Given the description of an element on the screen output the (x, y) to click on. 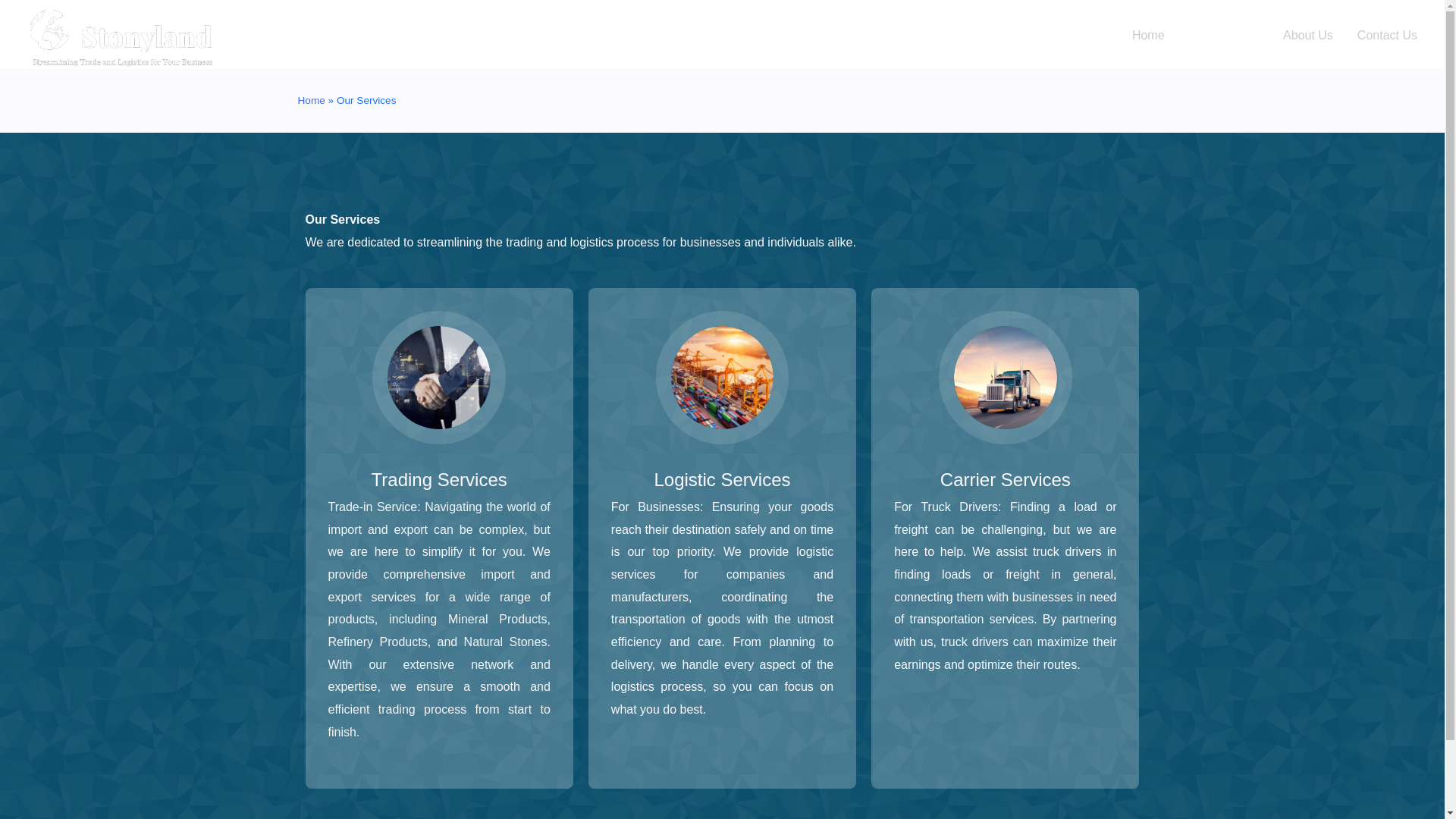
Contact Us (1387, 35)
Our Services (1223, 35)
Home (310, 100)
Home (1147, 35)
About Us (1308, 35)
